Given the description of an element on the screen output the (x, y) to click on. 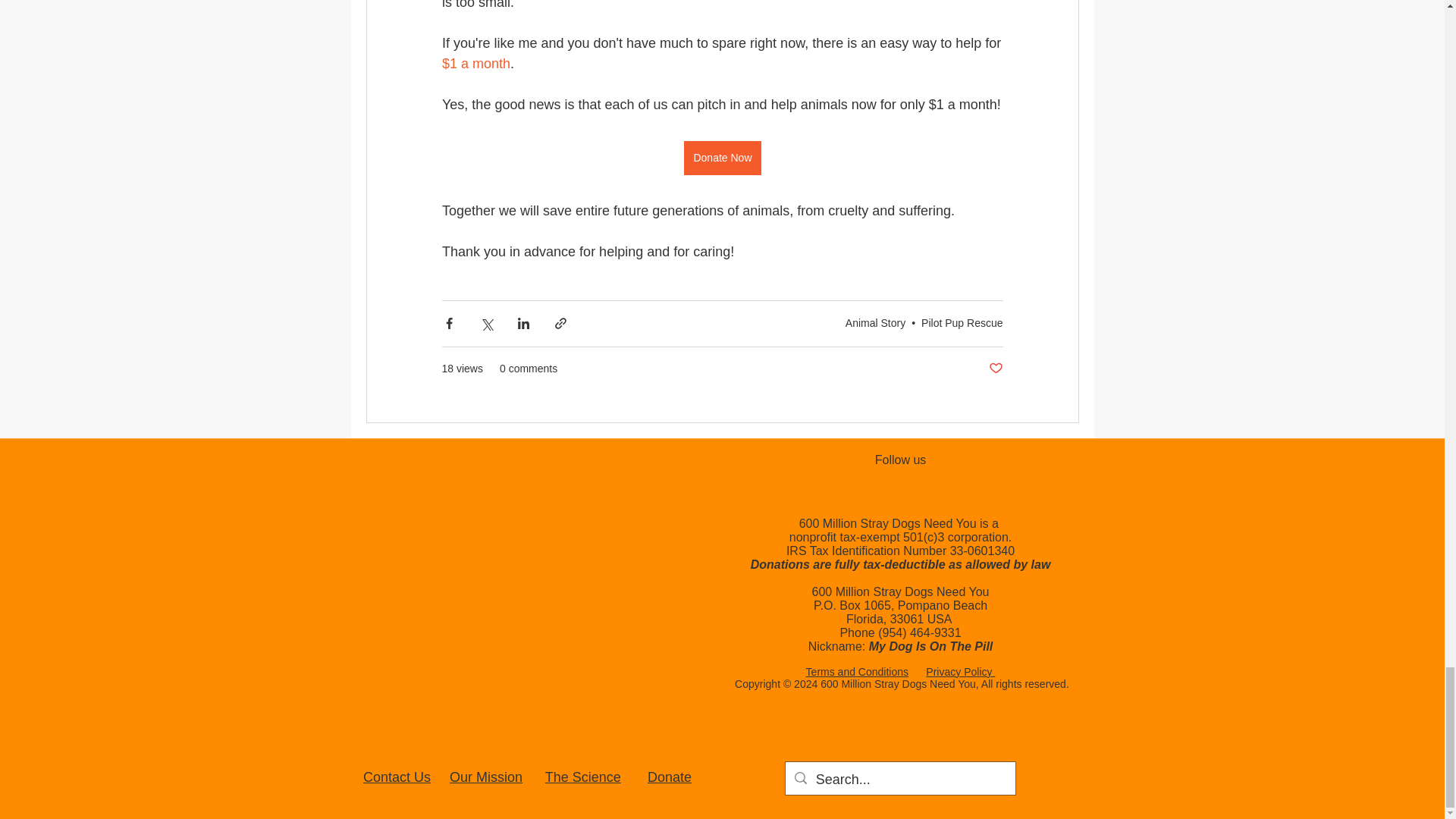
The Science (582, 776)
Animal Story (875, 322)
Privacy Policy  (960, 671)
Donate (669, 776)
Terms and Conditions (857, 671)
Pilot Pup Rescue (962, 322)
Post not marked as liked (995, 368)
Our Mission (485, 776)
Contact Us (396, 776)
Donate Now (722, 157)
